Given the description of an element on the screen output the (x, y) to click on. 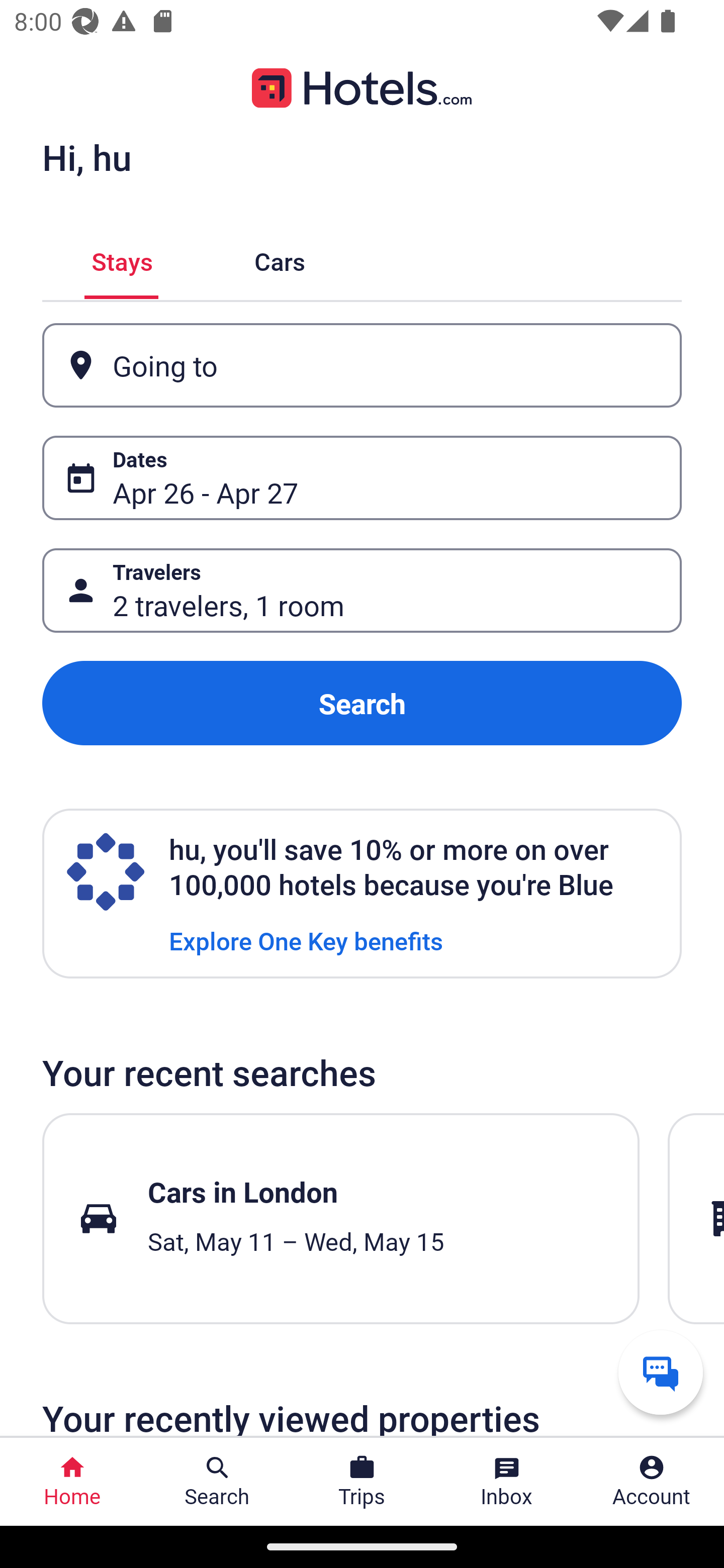
Hi, hu (86, 156)
Cars (279, 259)
Going to Button (361, 365)
Dates Button Apr 26 - Apr 27 (361, 477)
Travelers Button 2 travelers, 1 room (361, 590)
Search (361, 702)
Get help from a virtual agent (660, 1371)
Search Search Button (216, 1481)
Trips Trips Button (361, 1481)
Inbox Inbox Button (506, 1481)
Account Profile. Button (651, 1481)
